Given the description of an element on the screen output the (x, y) to click on. 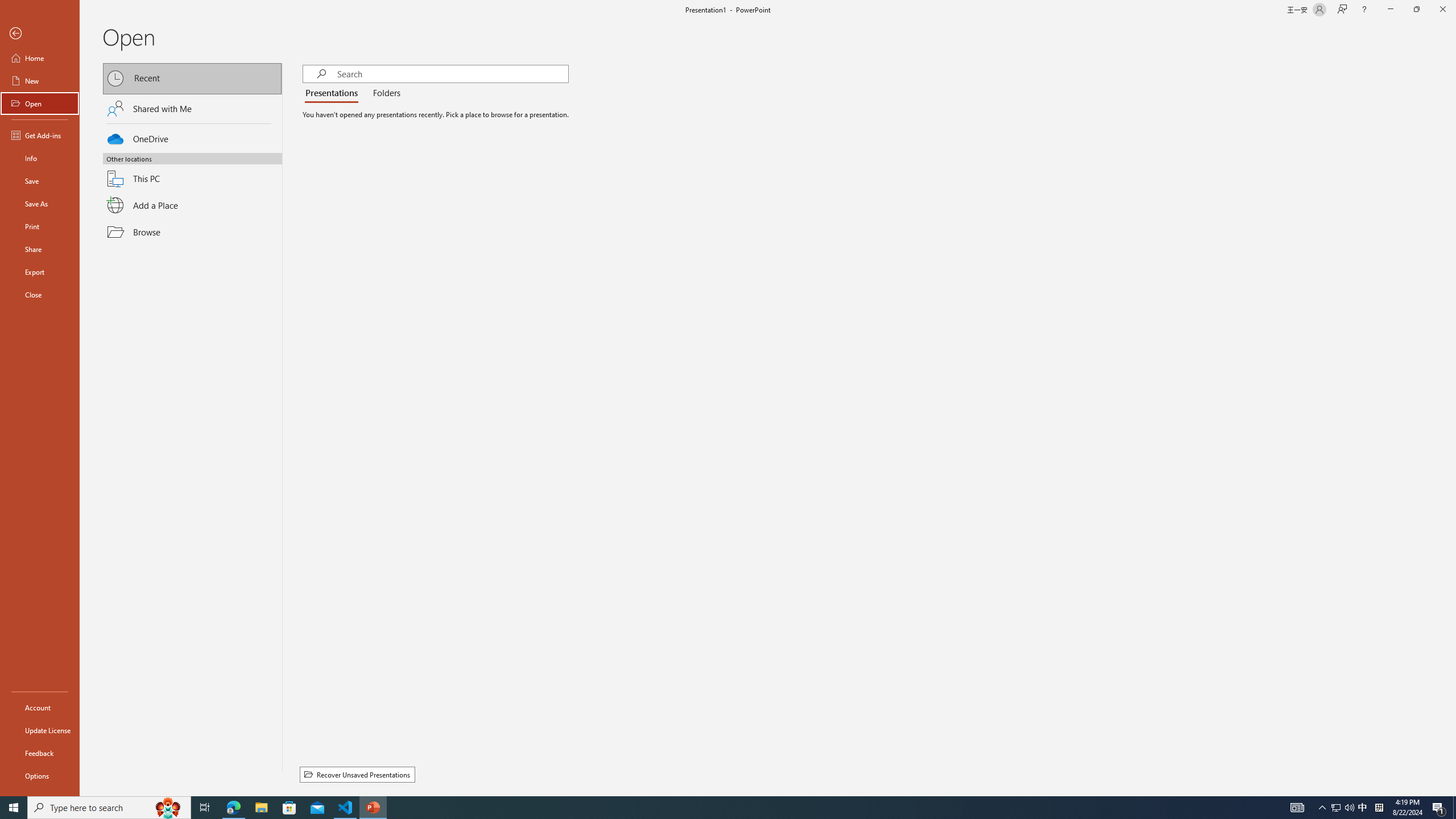
Options (40, 775)
Presentations (333, 93)
Back (40, 33)
New (40, 80)
Browse (192, 231)
Shared with Me (192, 108)
